Given the description of an element on the screen output the (x, y) to click on. 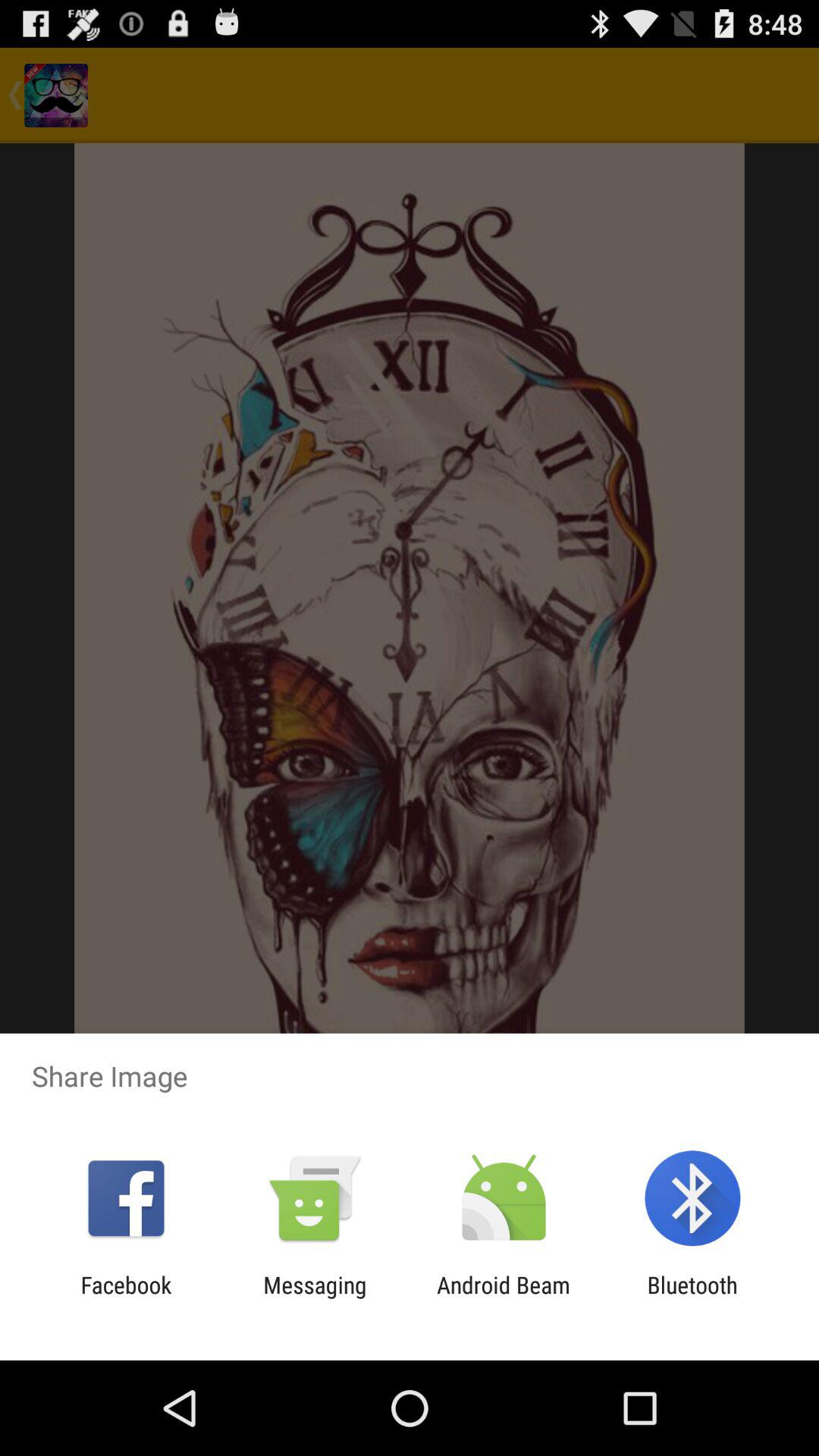
turn off the app to the left of bluetooth icon (503, 1298)
